Given the description of an element on the screen output the (x, y) to click on. 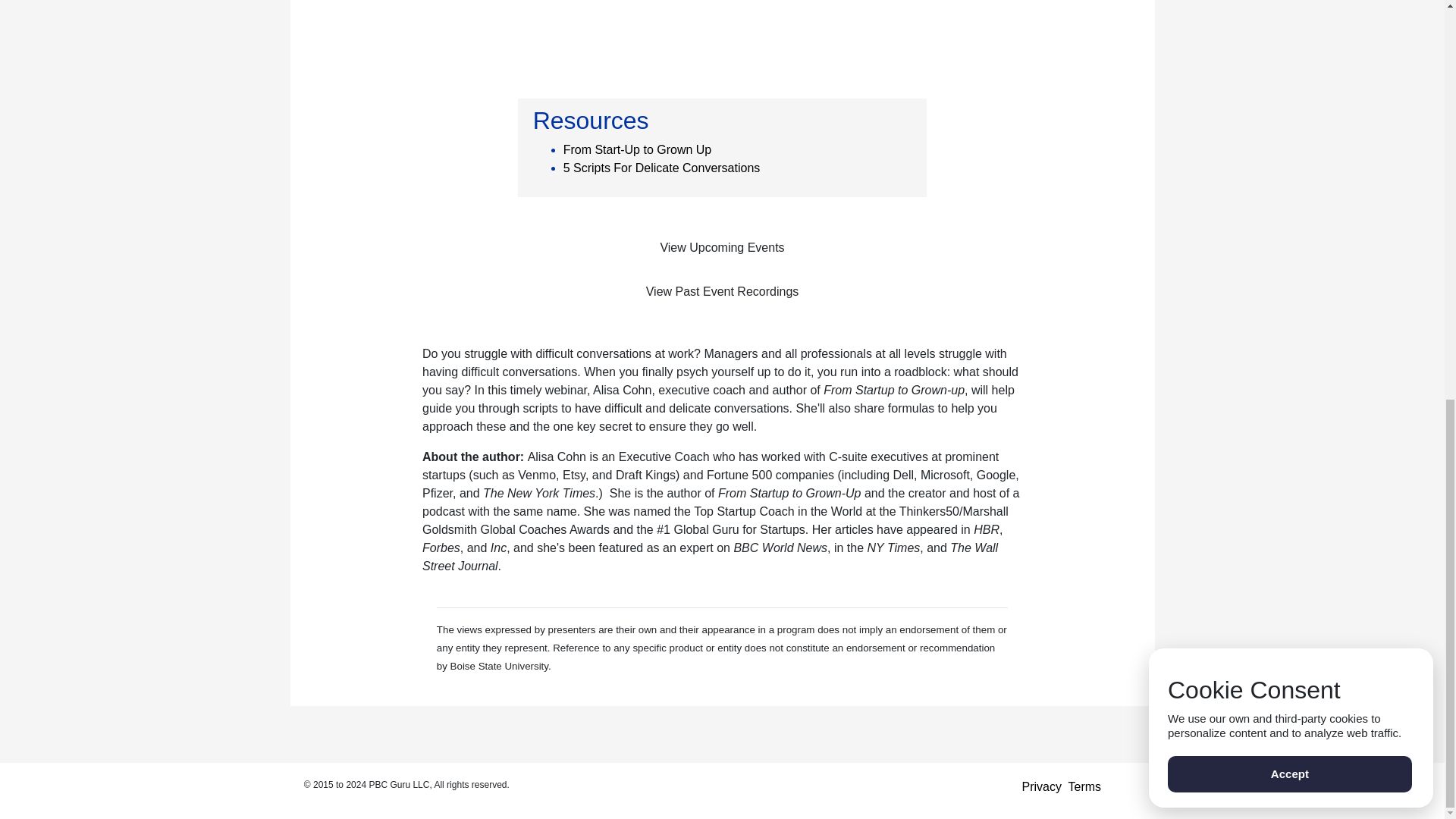
5 Scripts For Delicate Conversations (661, 167)
Accept (1289, 6)
View Upcoming Events (722, 247)
Terms (1085, 786)
Privacy (1041, 786)
From Start-Up to Grown Up (637, 149)
View Past Event Recordings (722, 291)
